Given the description of an element on the screen output the (x, y) to click on. 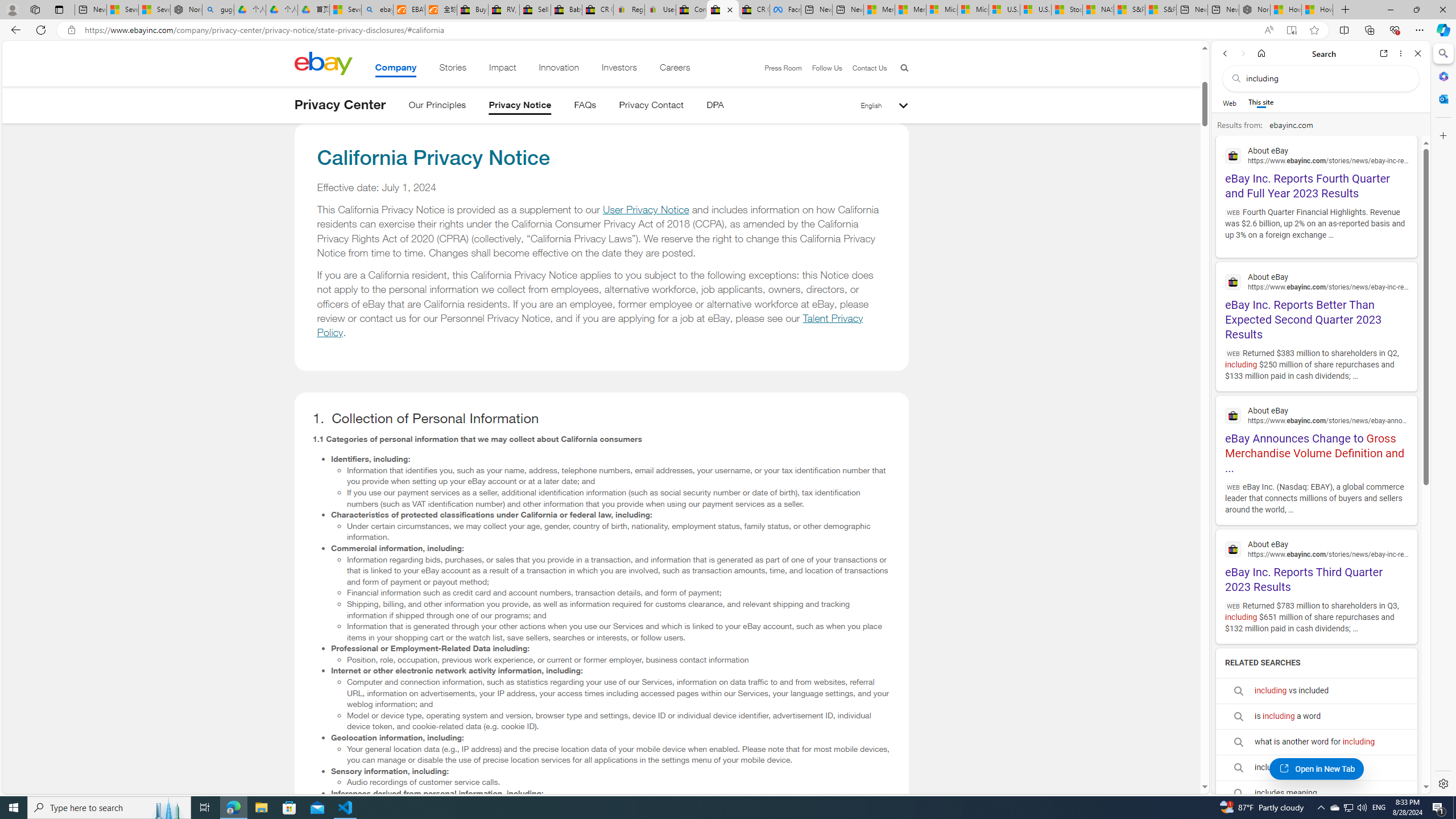
is including a word (1315, 715)
U.S. State Privacy Disclosures - eBay Inc. (722, 9)
Consumer Health Data Privacy Policy - eBay Inc. (691, 9)
User Privacy Notice | eBay (660, 9)
About eBay (1315, 548)
Enter Immersive Reader (F9) (1291, 29)
